Given the description of an element on the screen output the (x, y) to click on. 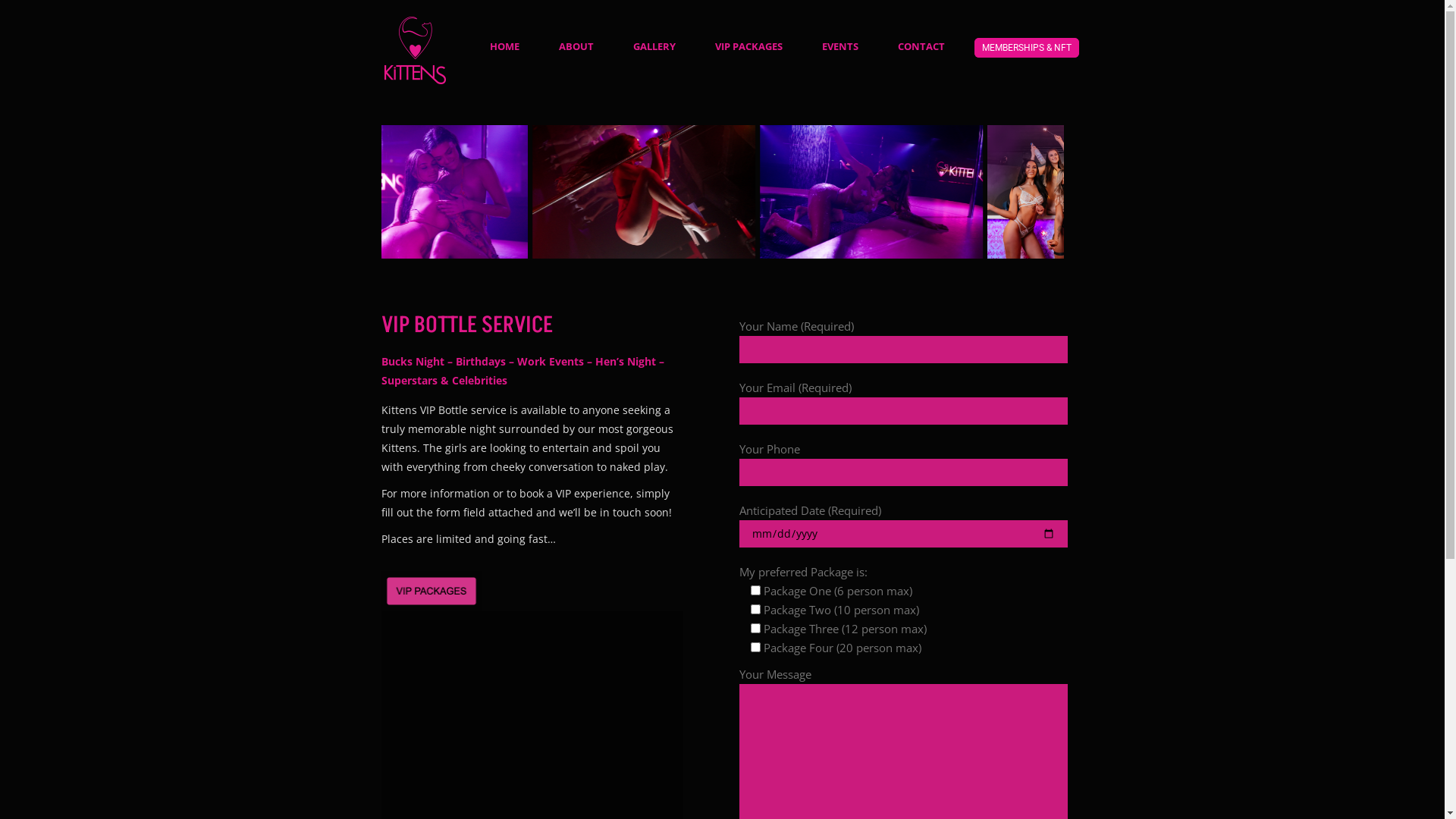
EVENTS Element type: text (839, 45)
VIP PACKAGES Element type: text (747, 45)
ABOUT Element type: text (575, 45)
Kittes Strip Club Element type: hover (949, 191)
HOME Element type: text (504, 45)
Kittes Strip Club Element type: hover (722, 191)
Kittes Strip Club Element type: hover (494, 191)
MEMBERSHIPS & NFT Element type: text (1025, 47)
GALLERY Element type: text (653, 45)
CONTACT Element type: text (921, 45)
